Given the description of an element on the screen output the (x, y) to click on. 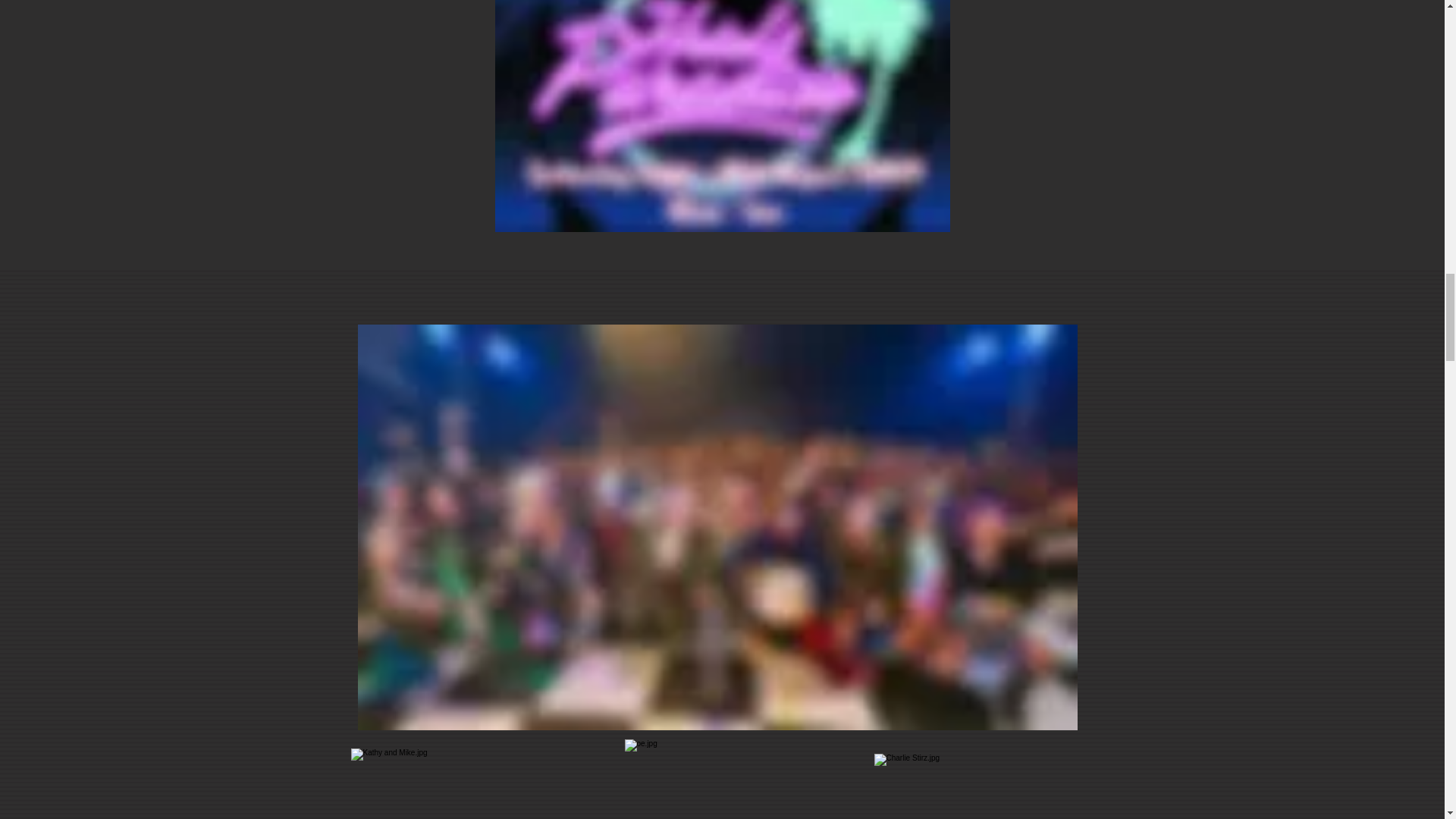
Boomtown 2024.JPG (722, 115)
